Given the description of an element on the screen output the (x, y) to click on. 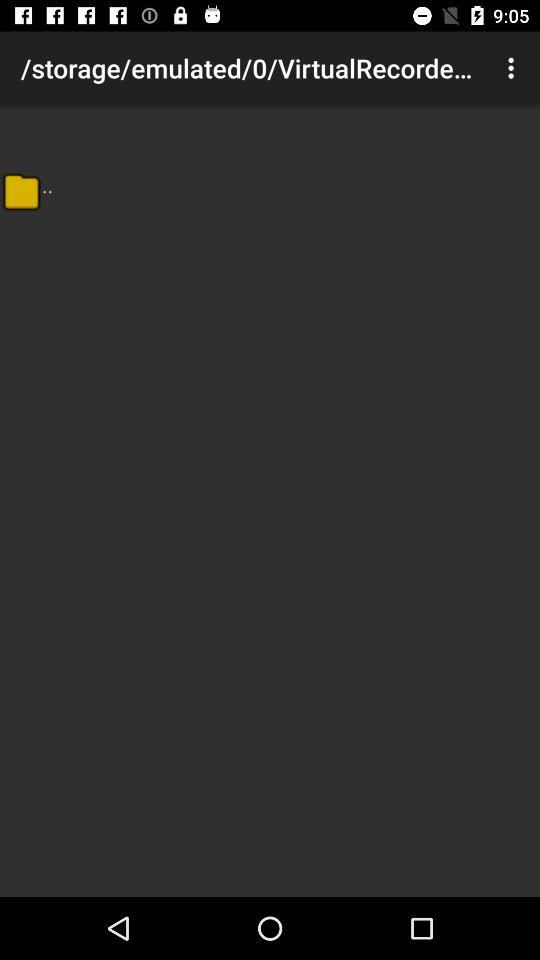
turn off the icon next to storage emulated 0 (513, 67)
